Given the description of an element on the screen output the (x, y) to click on. 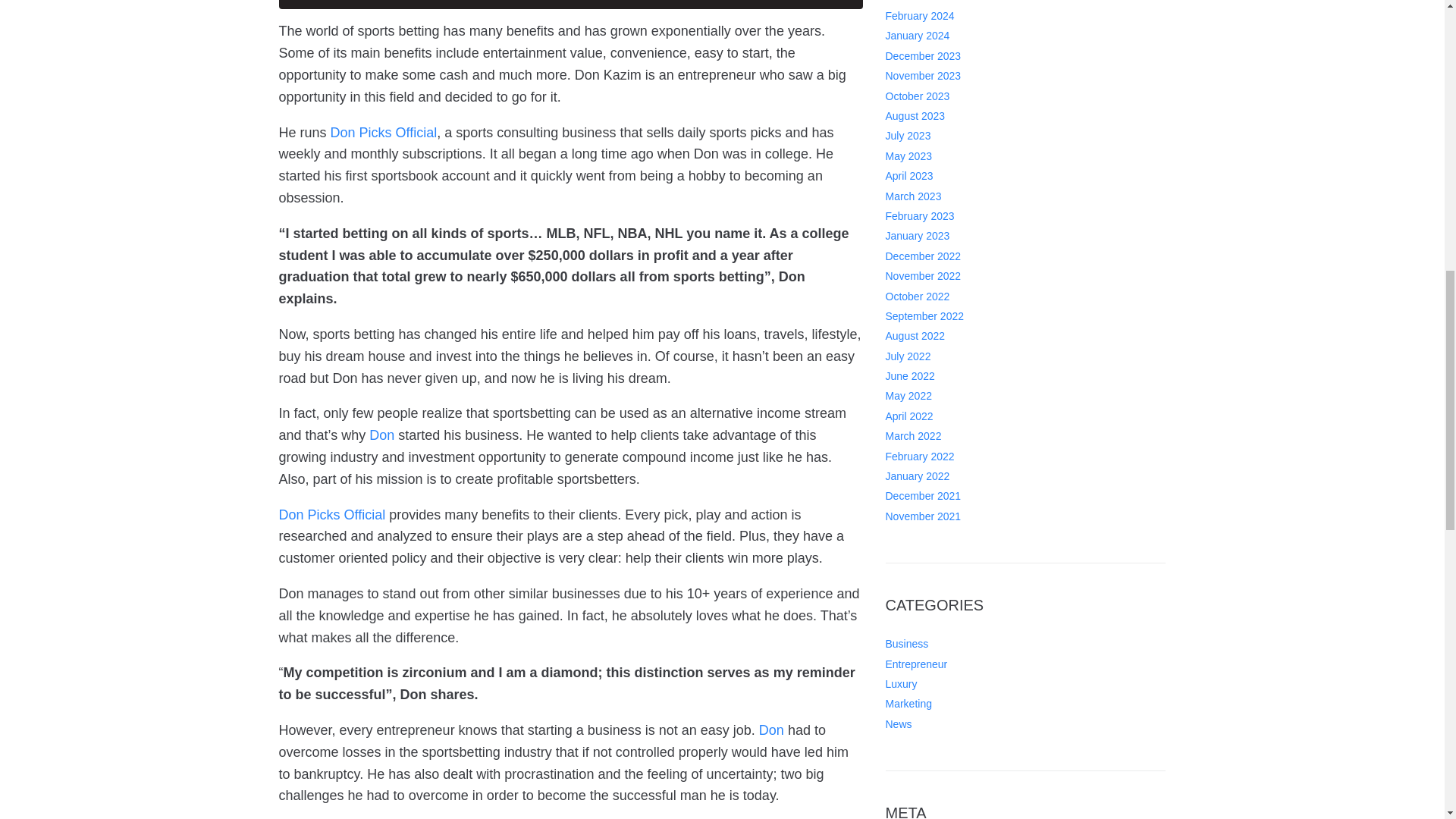
August 2023 (914, 61)
October 2023 (917, 41)
Don (381, 435)
Don Picks Official (384, 132)
November 2023 (922, 21)
Don (771, 729)
December 2023 (922, 4)
Don Picks Official (332, 514)
